Given the description of an element on the screen output the (x, y) to click on. 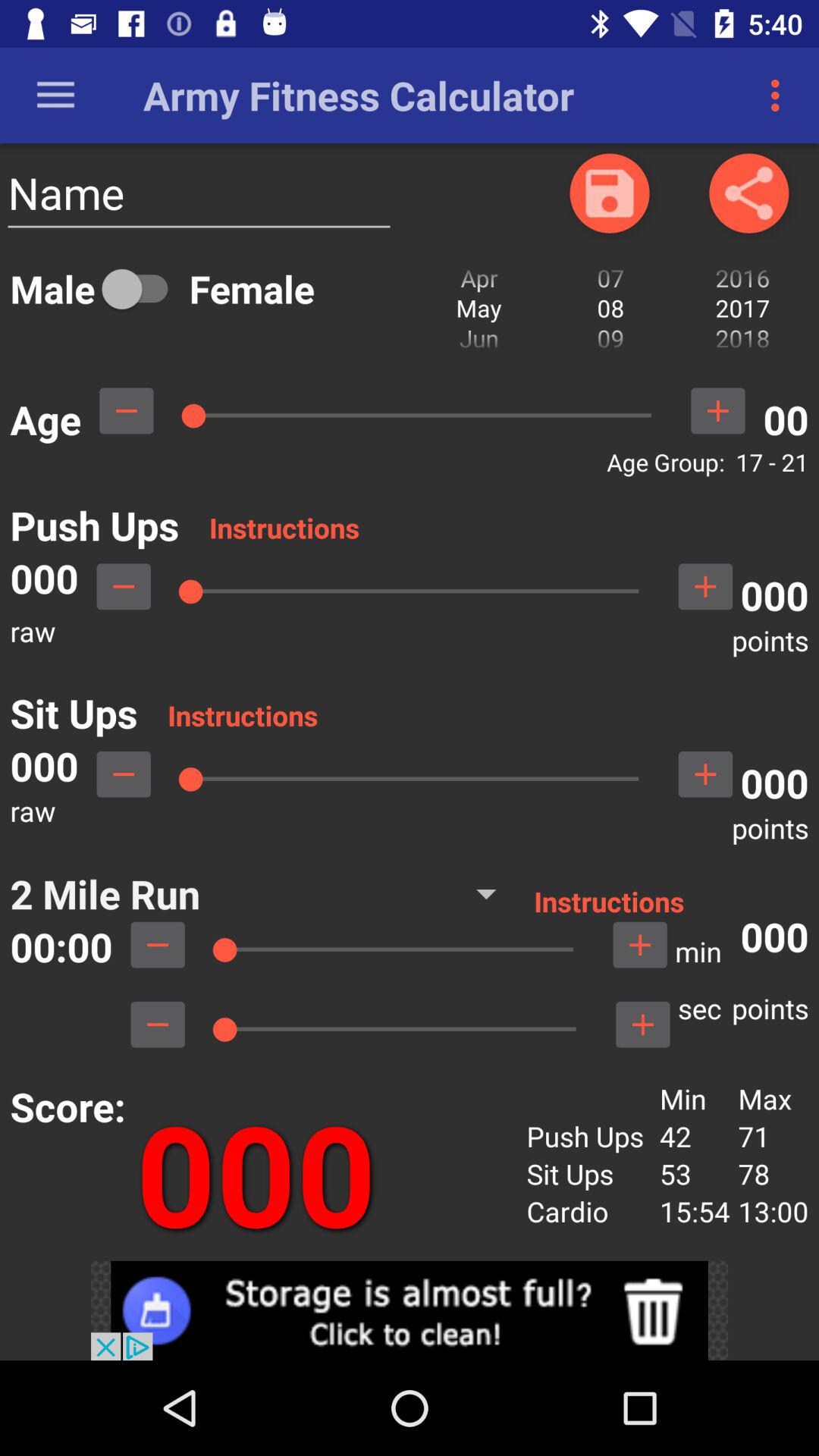
decrease sit ups (123, 774)
